Given the description of an element on the screen output the (x, y) to click on. 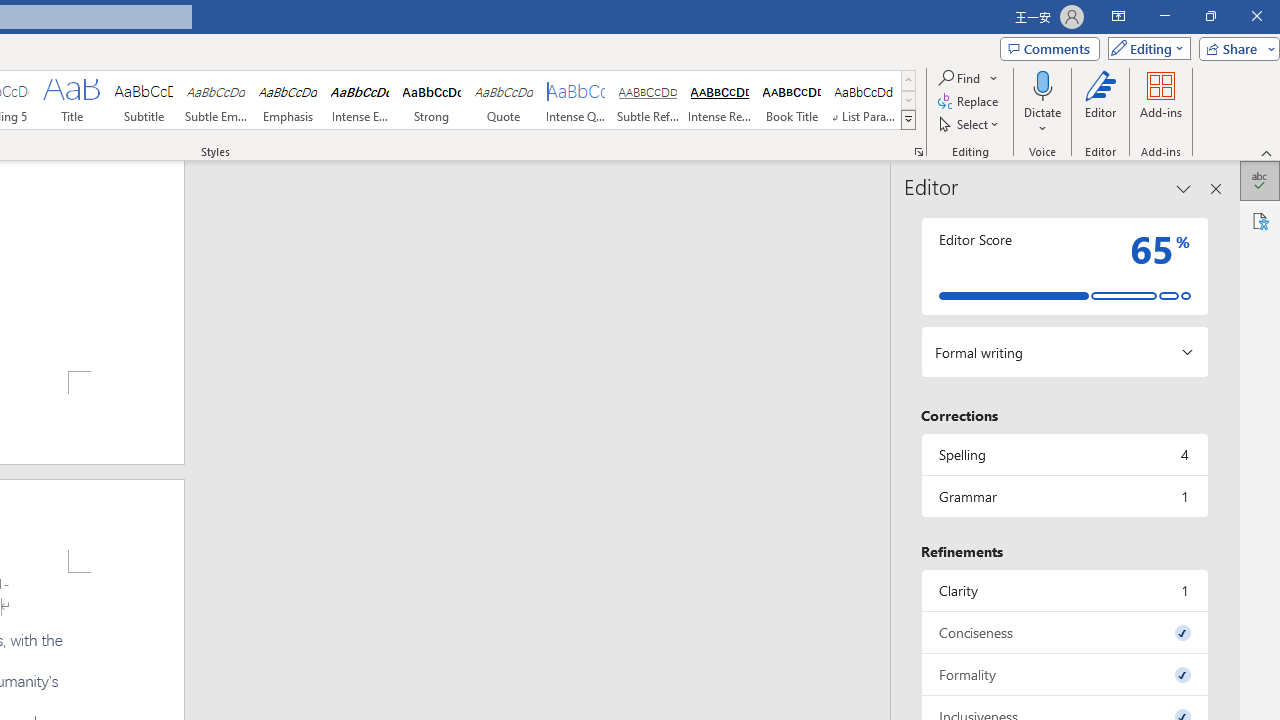
Close (1256, 16)
Class: NetUIImage (908, 119)
Find (960, 78)
Editor Score 65% (1064, 266)
Comments (1049, 48)
Restore Down (1210, 16)
Intense Reference (719, 100)
Quote (504, 100)
More Options (1042, 121)
Subtle Reference (647, 100)
Find (968, 78)
Close pane (1215, 188)
Strong (431, 100)
